Given the description of an element on the screen output the (x, y) to click on. 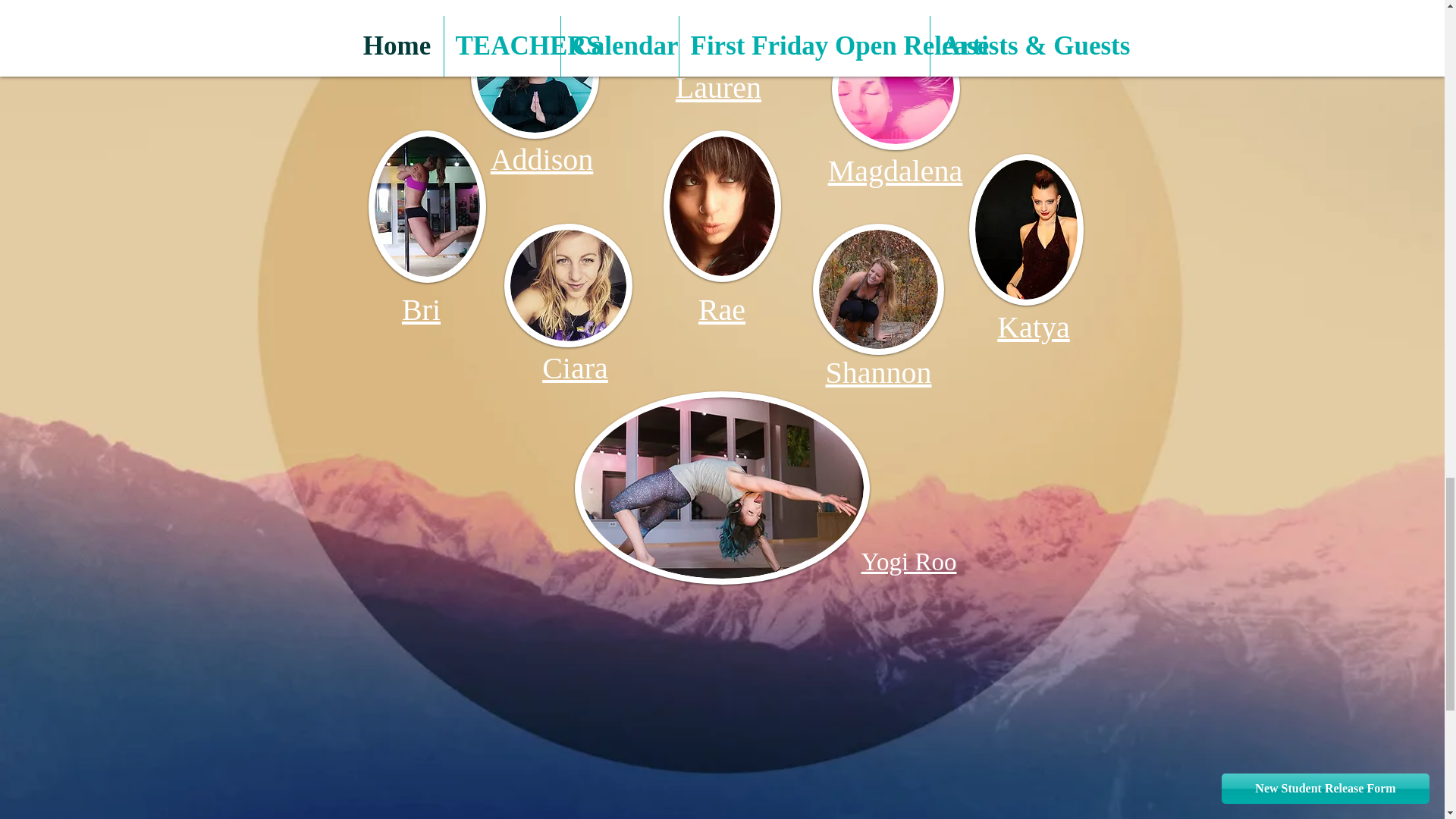
Lauren (718, 87)
Ciara (574, 367)
Katya (1033, 326)
Bri (421, 309)
Addison (542, 159)
Magdalena (895, 170)
Rae (721, 309)
Yogi Roo (908, 561)
Shannon (878, 372)
